Given the description of an element on the screen output the (x, y) to click on. 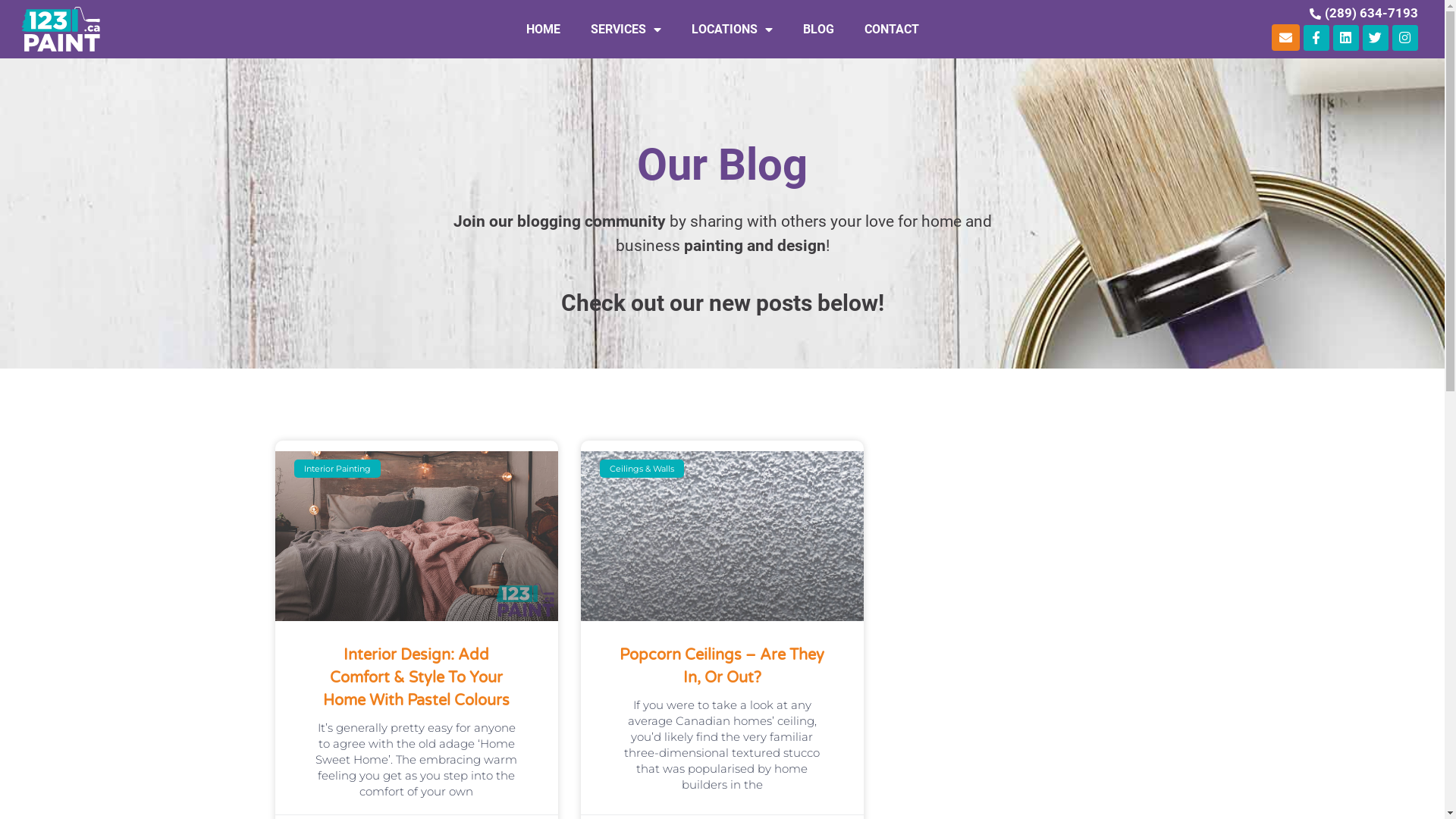
CONTACT Element type: text (891, 29)
(289) 634-7193 Element type: text (1371, 12)
LOCATIONS Element type: text (731, 29)
SERVICES Element type: text (625, 29)
BLOG Element type: text (818, 29)
HOME Element type: text (543, 29)
